Given the description of an element on the screen output the (x, y) to click on. 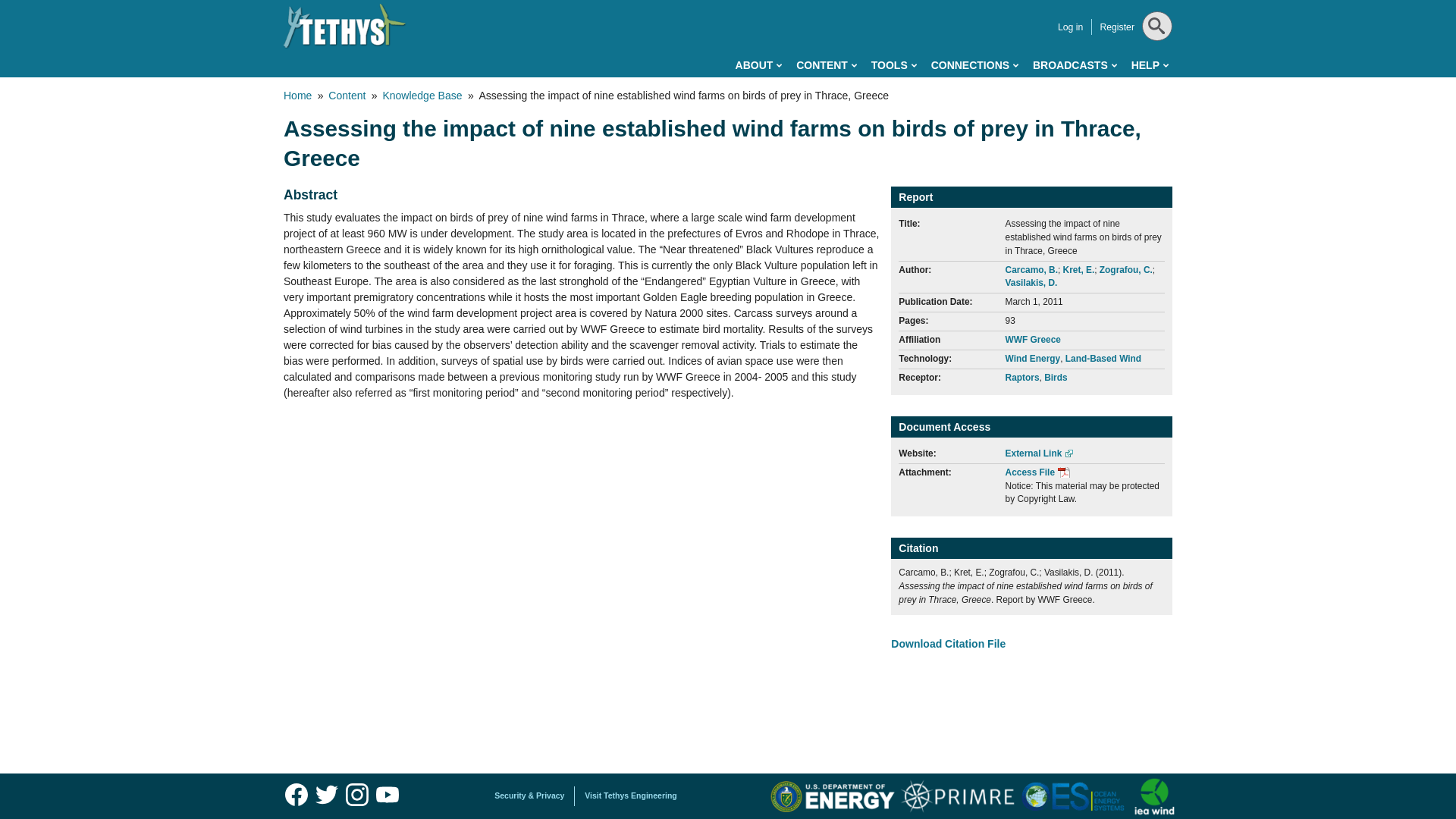
Home (344, 26)
CONNECTIONS (974, 65)
Log in (1070, 27)
HELP (1150, 65)
TOOLS (893, 65)
CONTENT (826, 65)
Search (1155, 64)
ABOUT (759, 65)
Search (1155, 64)
BROADCASTS (1074, 65)
Skip to main content (659, 3)
Register (1116, 27)
